Given the description of an element on the screen output the (x, y) to click on. 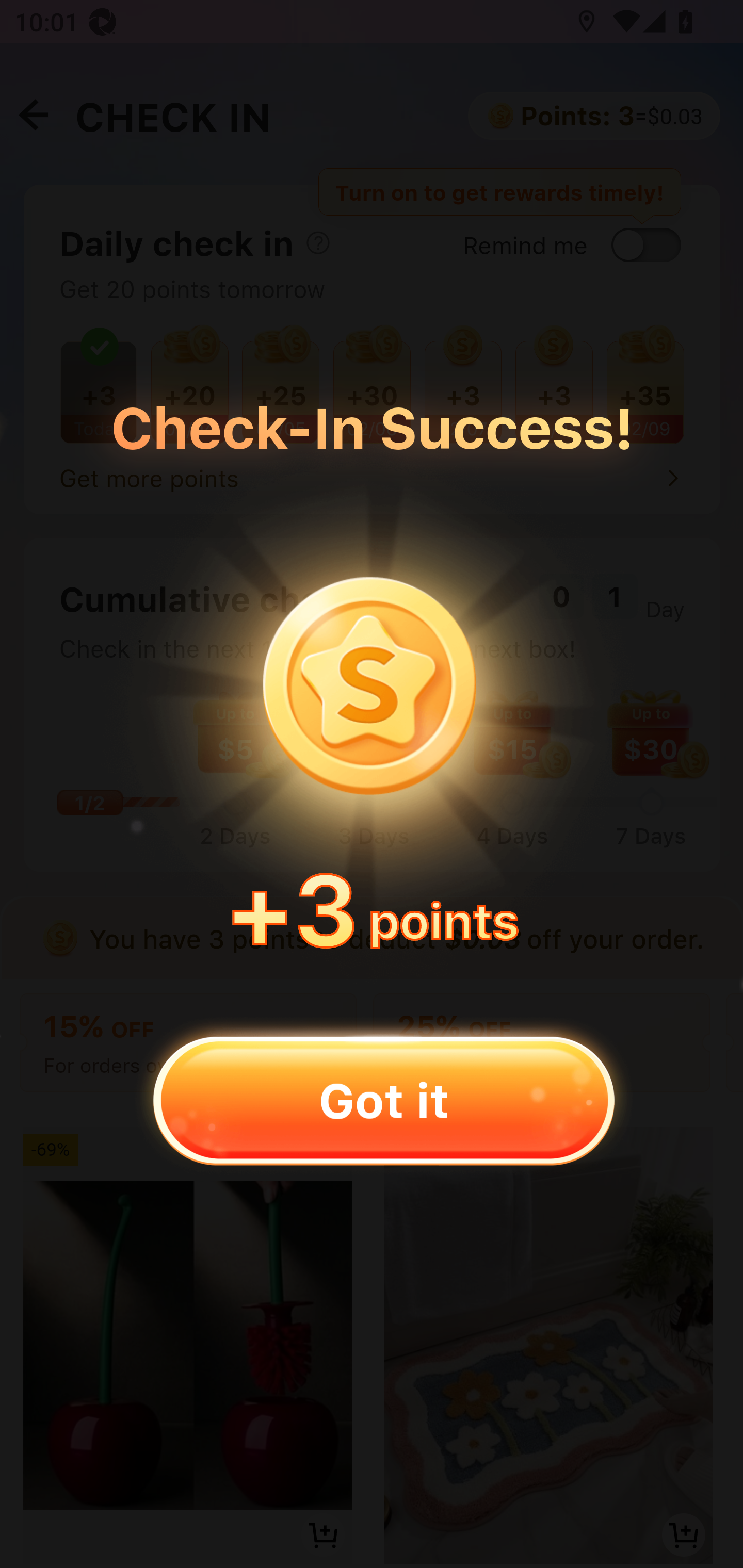
Got it (383, 1099)
